Given the description of an element on the screen output the (x, y) to click on. 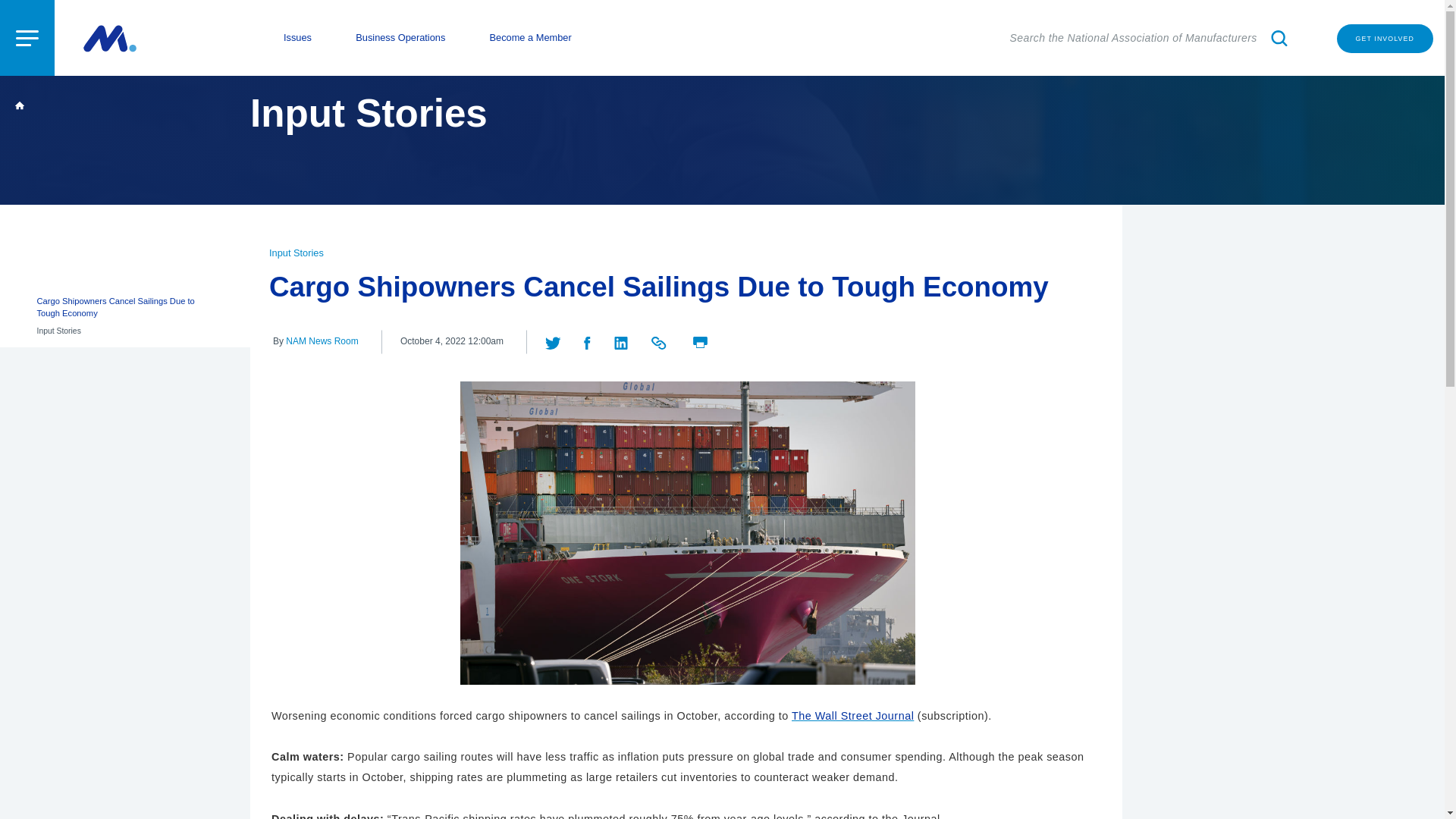
Share on Twitter (553, 340)
Input Stories (296, 252)
Become a Member (530, 37)
Print Page (699, 339)
GET INVOLVED (1384, 39)
Share on LinkedIn (621, 340)
NAM News Room (321, 340)
The Wall Street Journal (853, 715)
Share Link (659, 340)
Search the National Association of Manufacturers (1150, 37)
Issues (297, 37)
Business Operations (400, 37)
Tuesday, October 4th at 12:00am (451, 341)
Share on Facebook (587, 340)
